Given the description of an element on the screen output the (x, y) to click on. 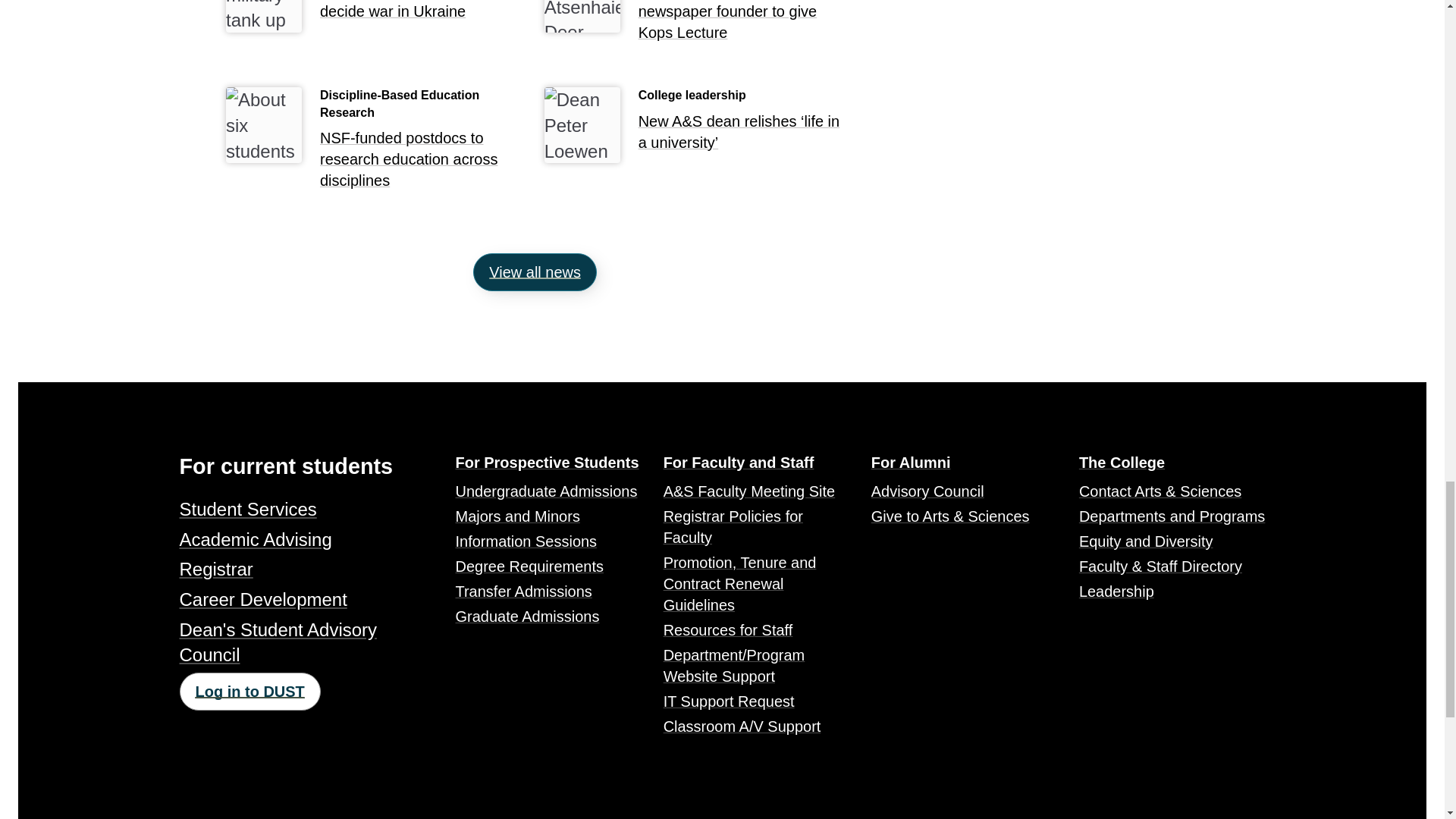
NSF-funded postdocs to research education across disciplines (422, 163)
Mohawk community newspaper founder to give Kops Lecture  (741, 25)
Western weapons won't decide war in Ukraine (422, 14)
